Given the description of an element on the screen output the (x, y) to click on. 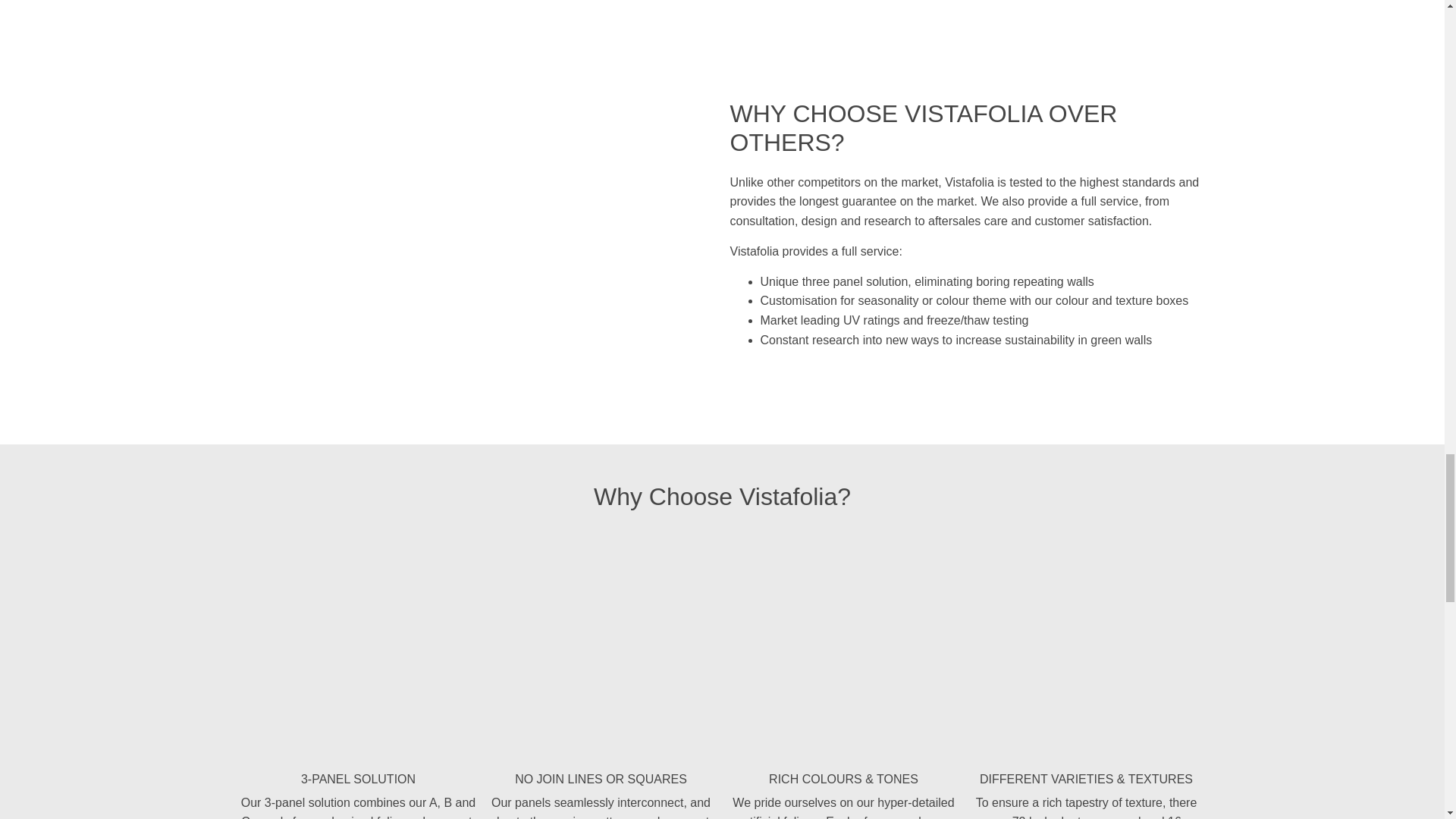
Close up of White-Flowers Within Artificial Green Wall (358, 647)
beautiful realistic plant wall in office (601, 647)
Vistafolia garden artificial green wall (843, 647)
